Given the description of an element on the screen output the (x, y) to click on. 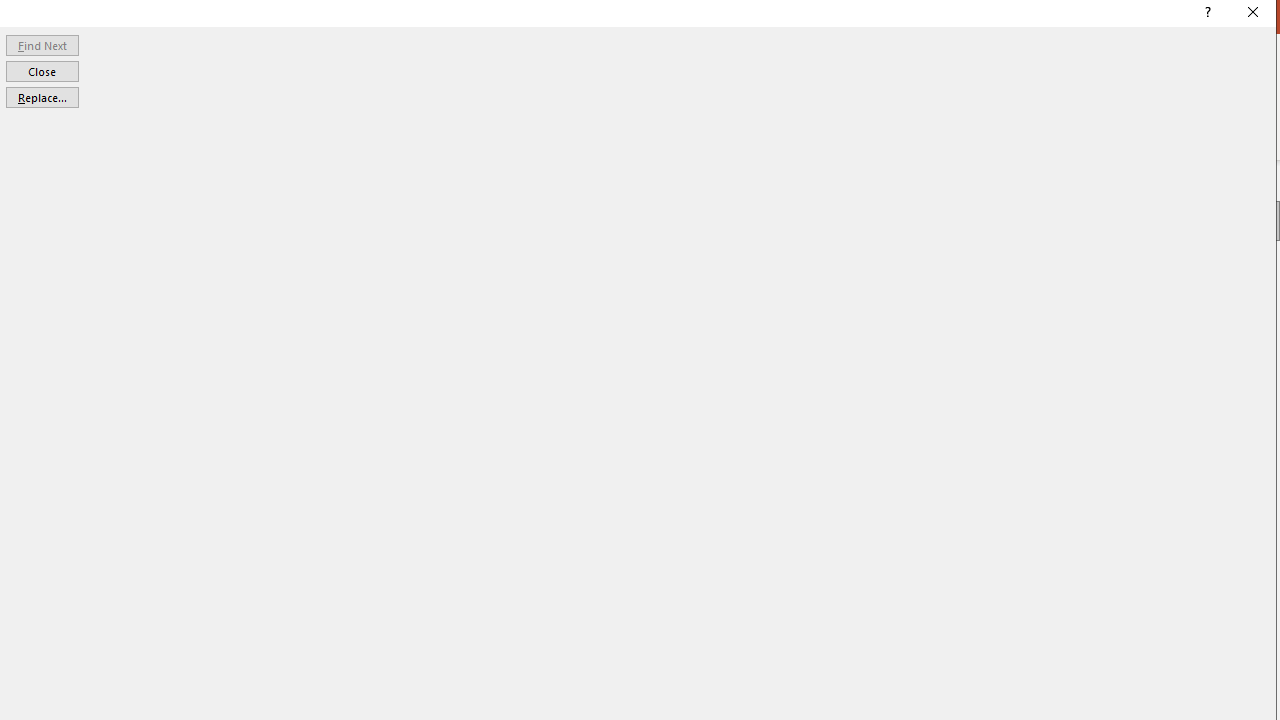
Find Next (42, 44)
